Given the description of an element on the screen output the (x, y) to click on. 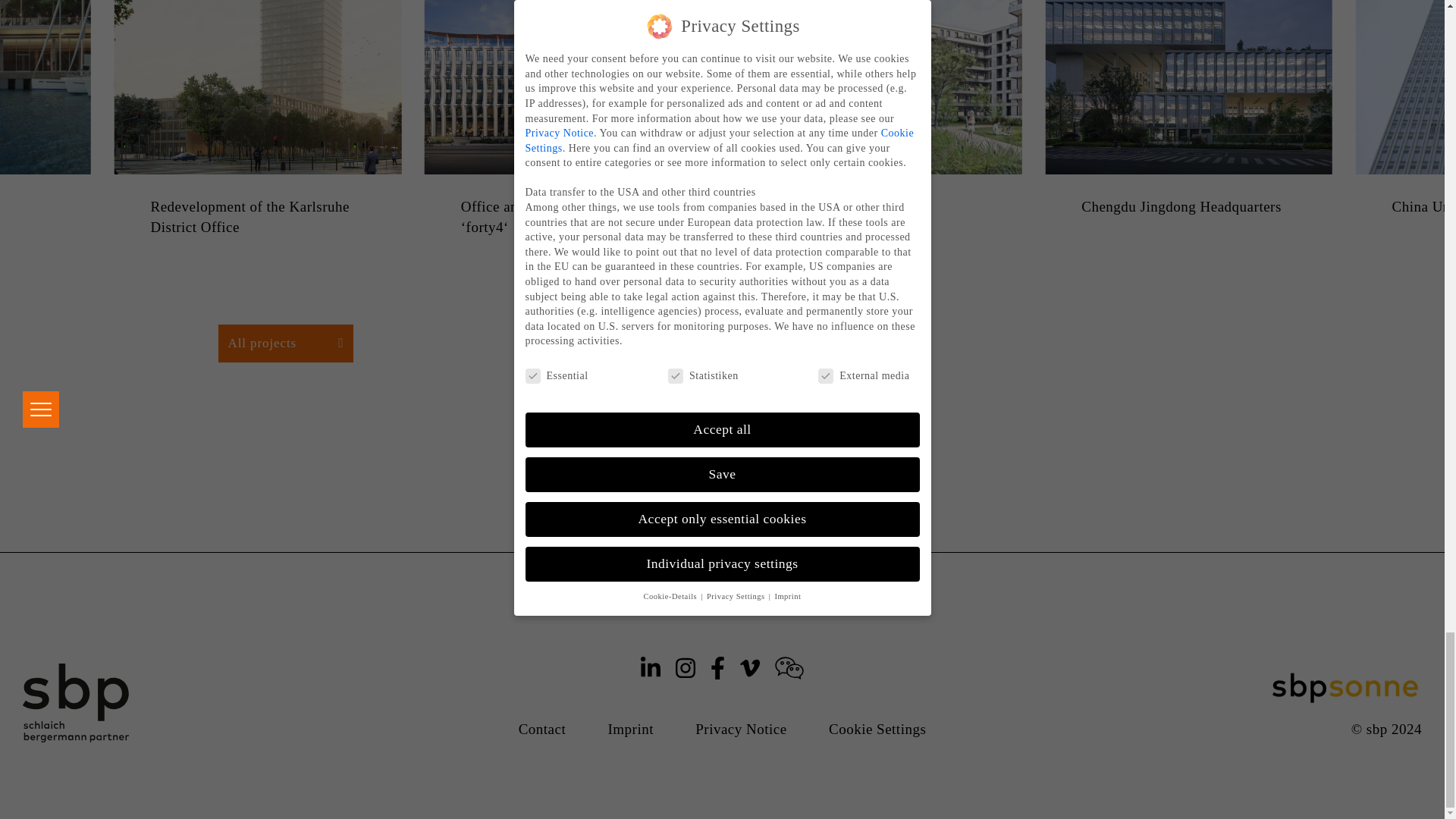
Anse du Portier (45, 207)
Chengdu Jingdong Headquarters (1188, 207)
Redevelopment of the Karlsruhe District Office (257, 217)
